Given the description of an element on the screen output the (x, y) to click on. 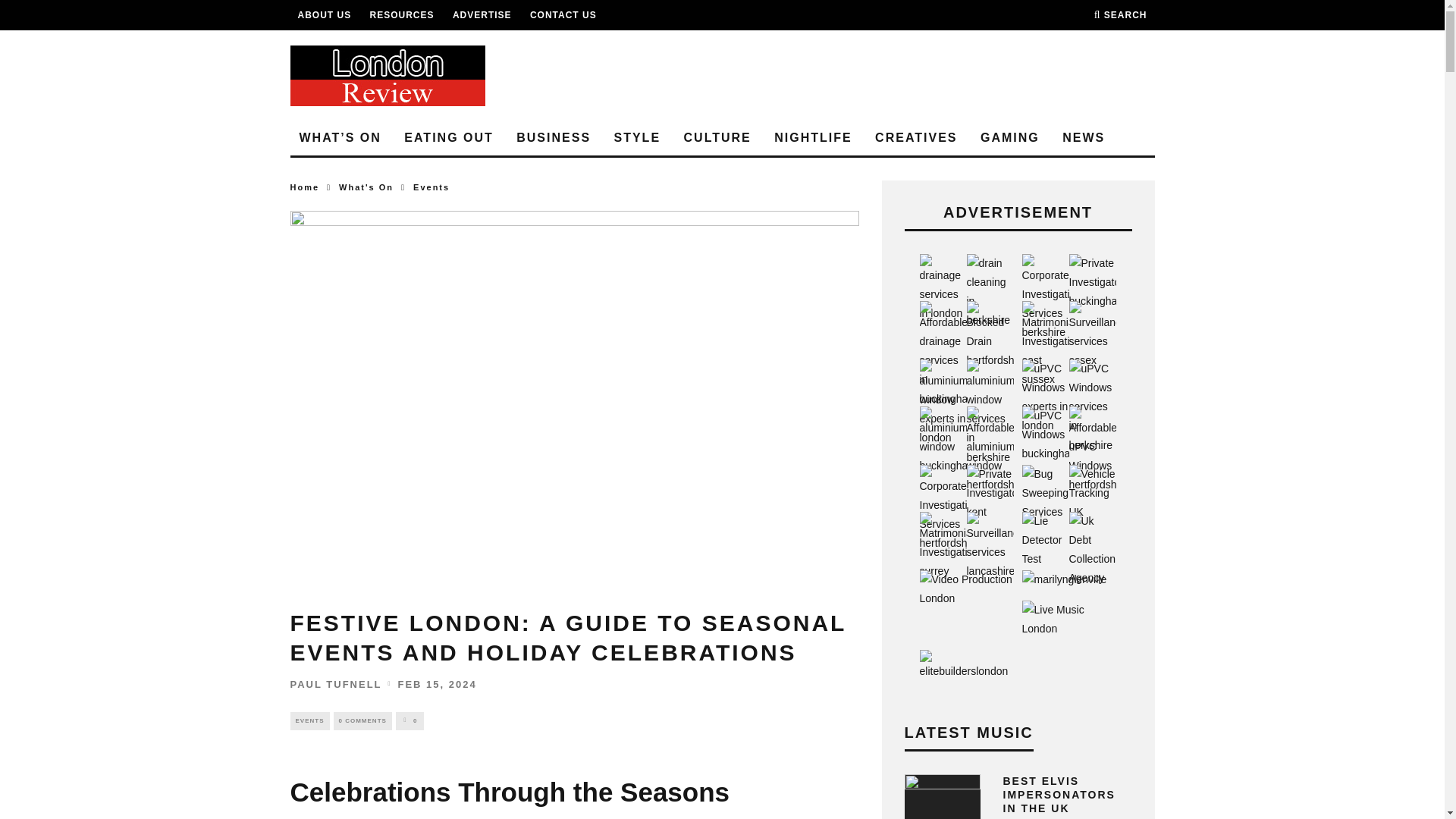
EATING OUT (448, 138)
EVENTS (309, 720)
Home (303, 186)
ABOUT US (323, 15)
ADVERTISE (482, 15)
0 COMMENTS (362, 720)
View all posts in Events (431, 186)
NIGHTLIFE (812, 138)
SEARCH (1120, 15)
BUSINESS (552, 138)
